Given the description of an element on the screen output the (x, y) to click on. 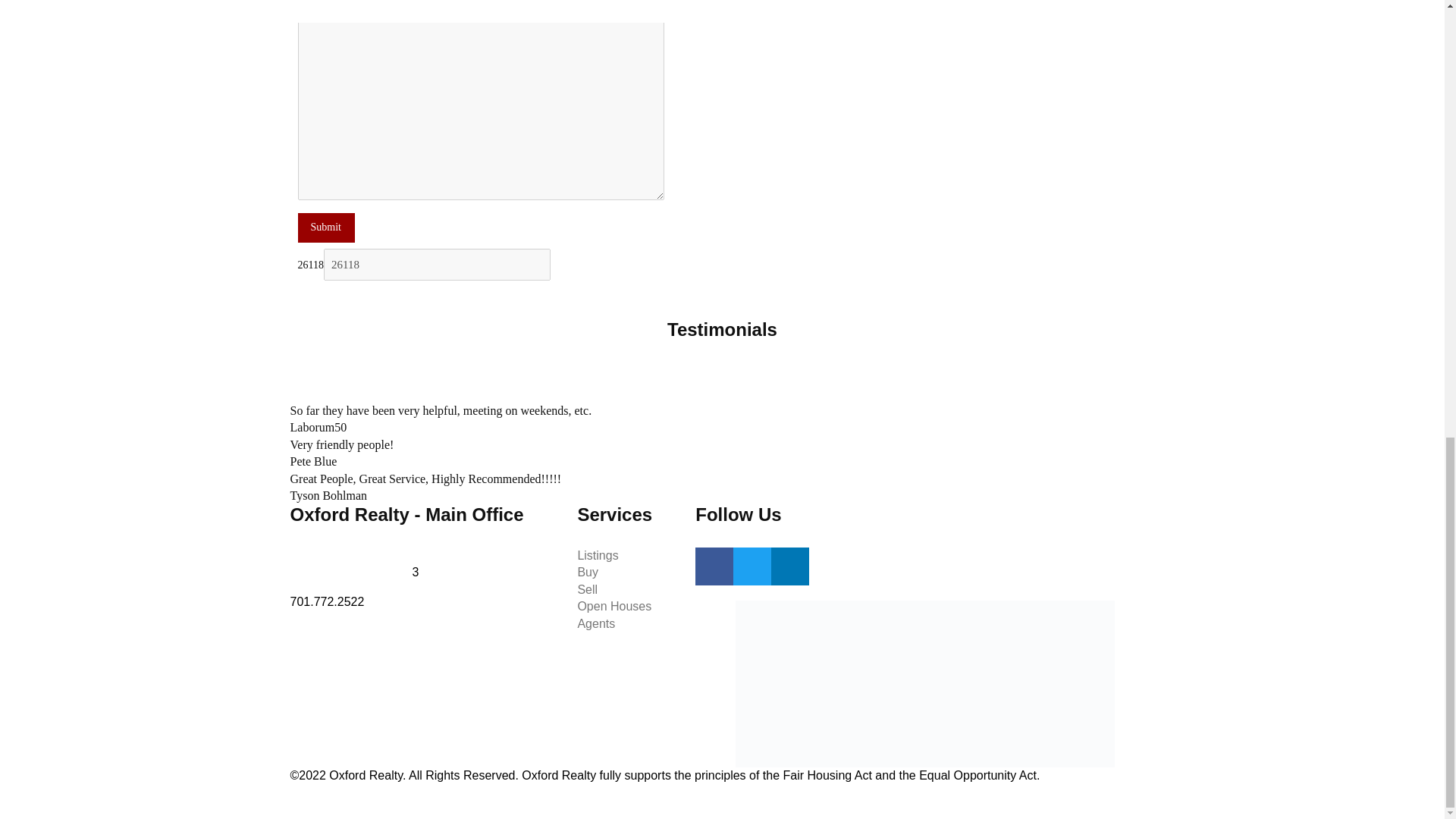
Submit (325, 226)
26118 (436, 264)
